Given the description of an element on the screen output the (x, y) to click on. 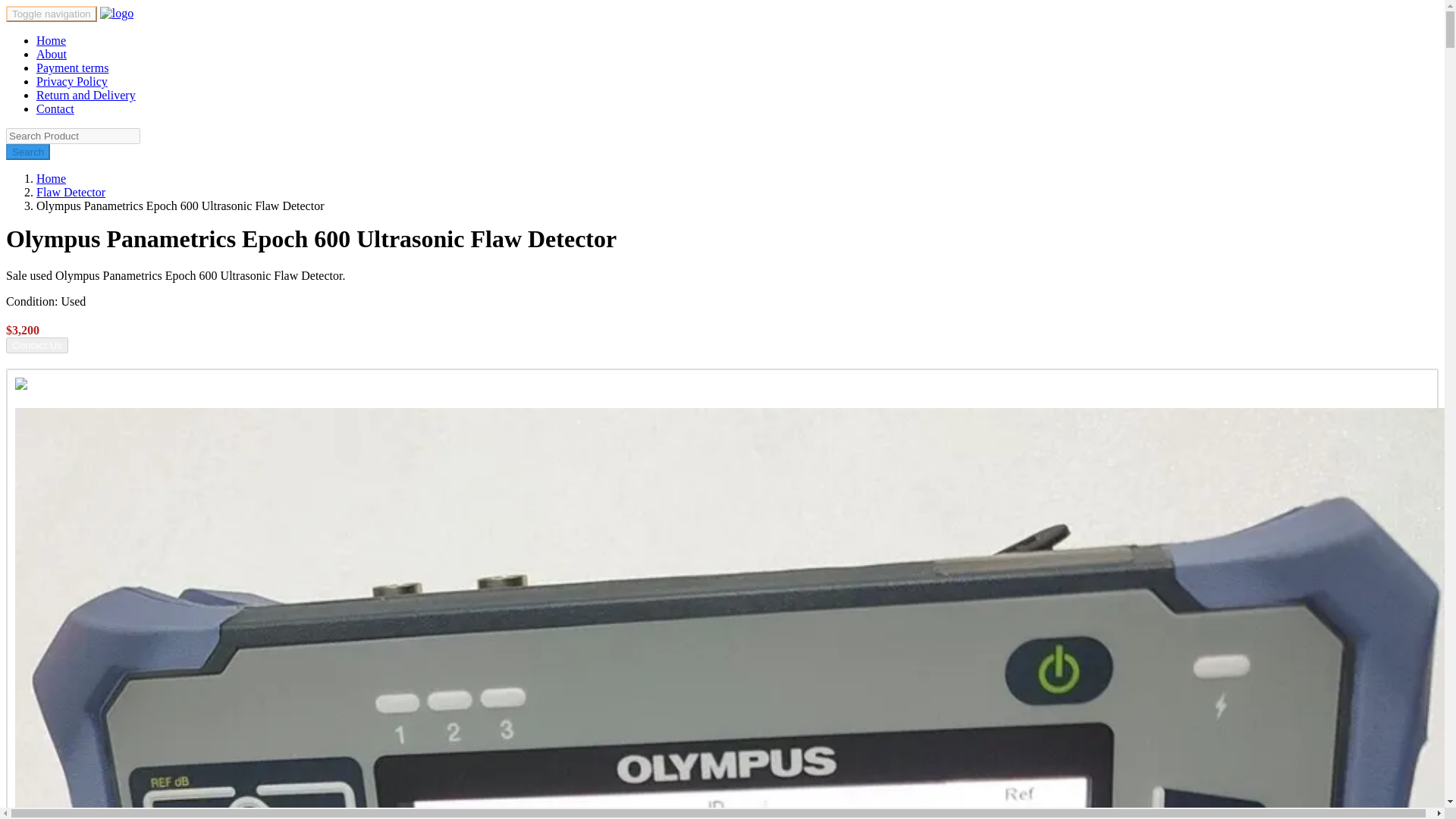
Home (50, 40)
Payment terms (72, 67)
Privacy Policy (71, 81)
Contact (55, 108)
Return and Delivery (85, 94)
Contact Us (36, 345)
Home (50, 178)
Search (27, 151)
About (51, 53)
Toggle navigation (51, 13)
Flaw Detector (70, 192)
Contact Us (36, 344)
